Given the description of an element on the screen output the (x, y) to click on. 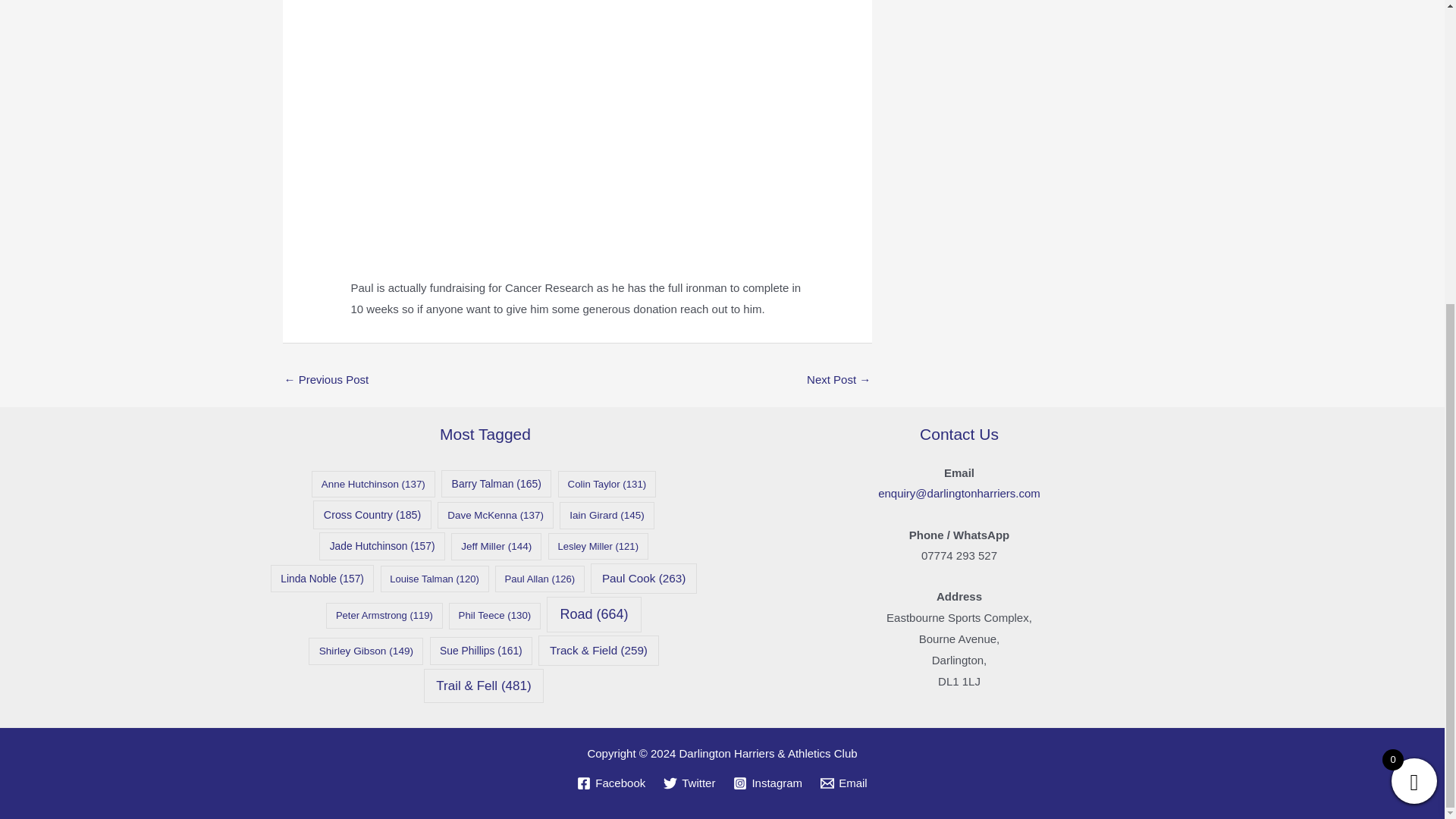
Strawberry Heels forever (838, 380)
Life's a Beach (325, 380)
